Given the description of an element on the screen output the (x, y) to click on. 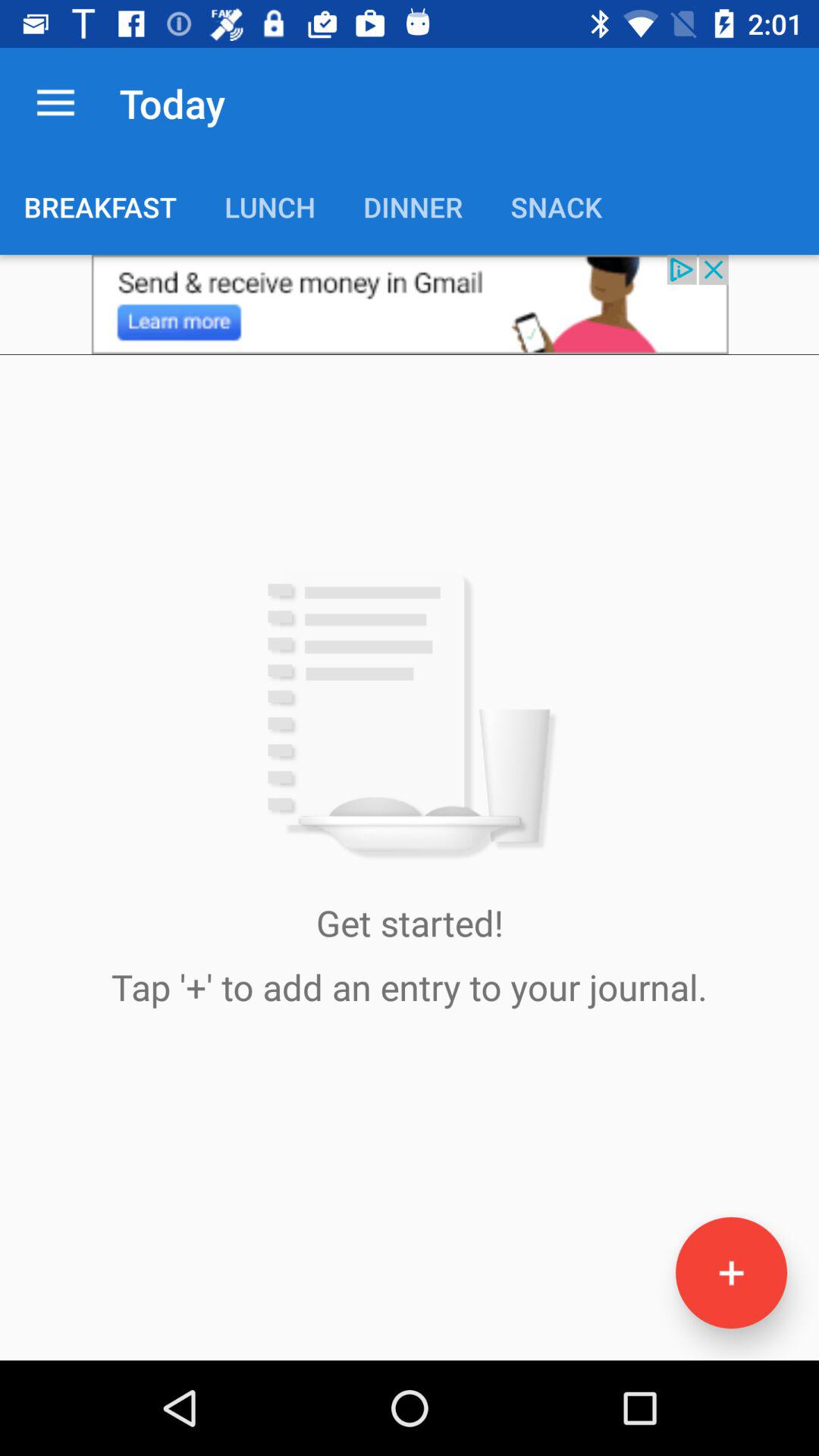
click advertisement (409, 304)
